Given the description of an element on the screen output the (x, y) to click on. 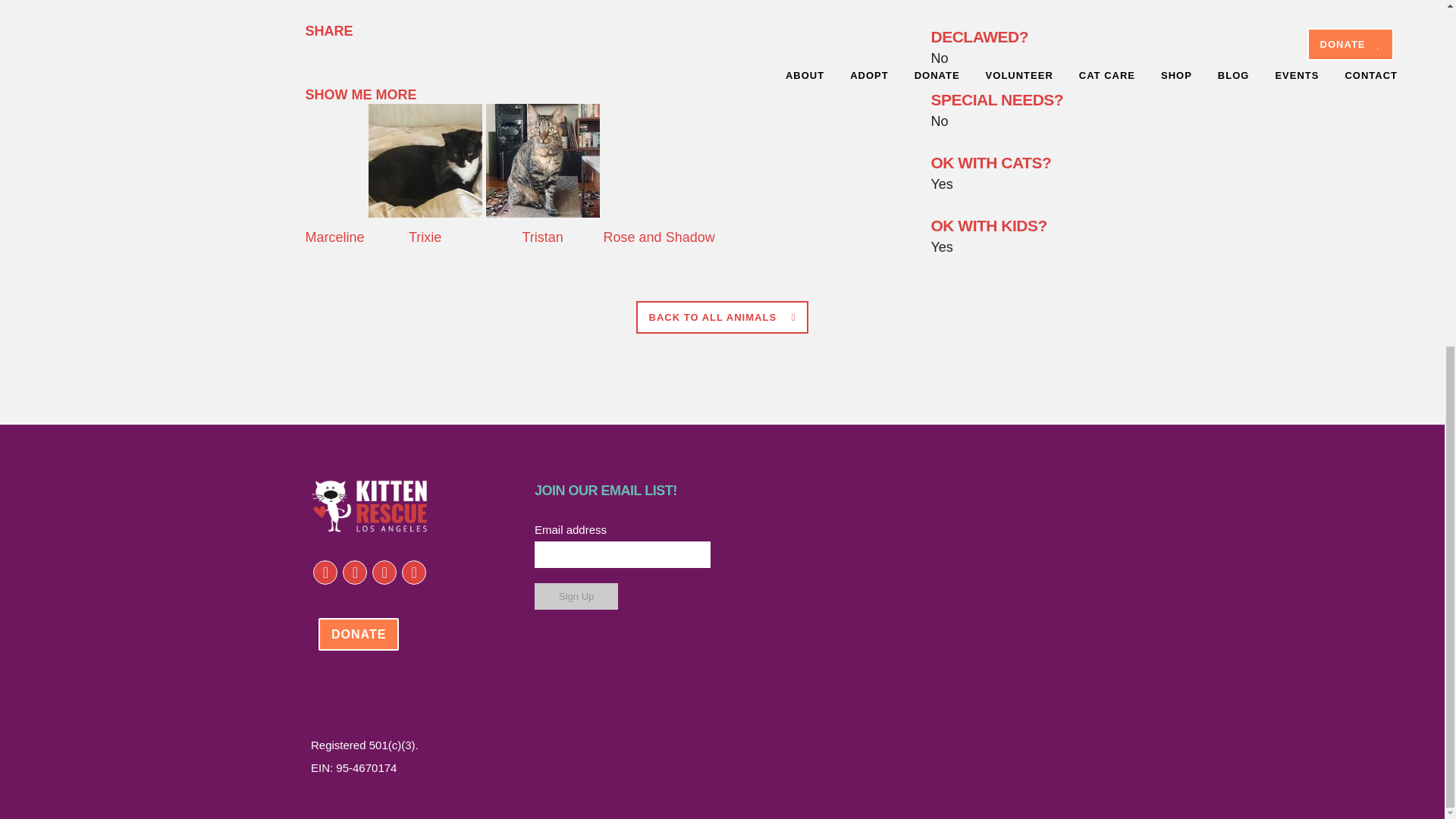
Trixie (424, 212)
Tristan (542, 212)
Sign Up (575, 596)
